Given the description of an element on the screen output the (x, y) to click on. 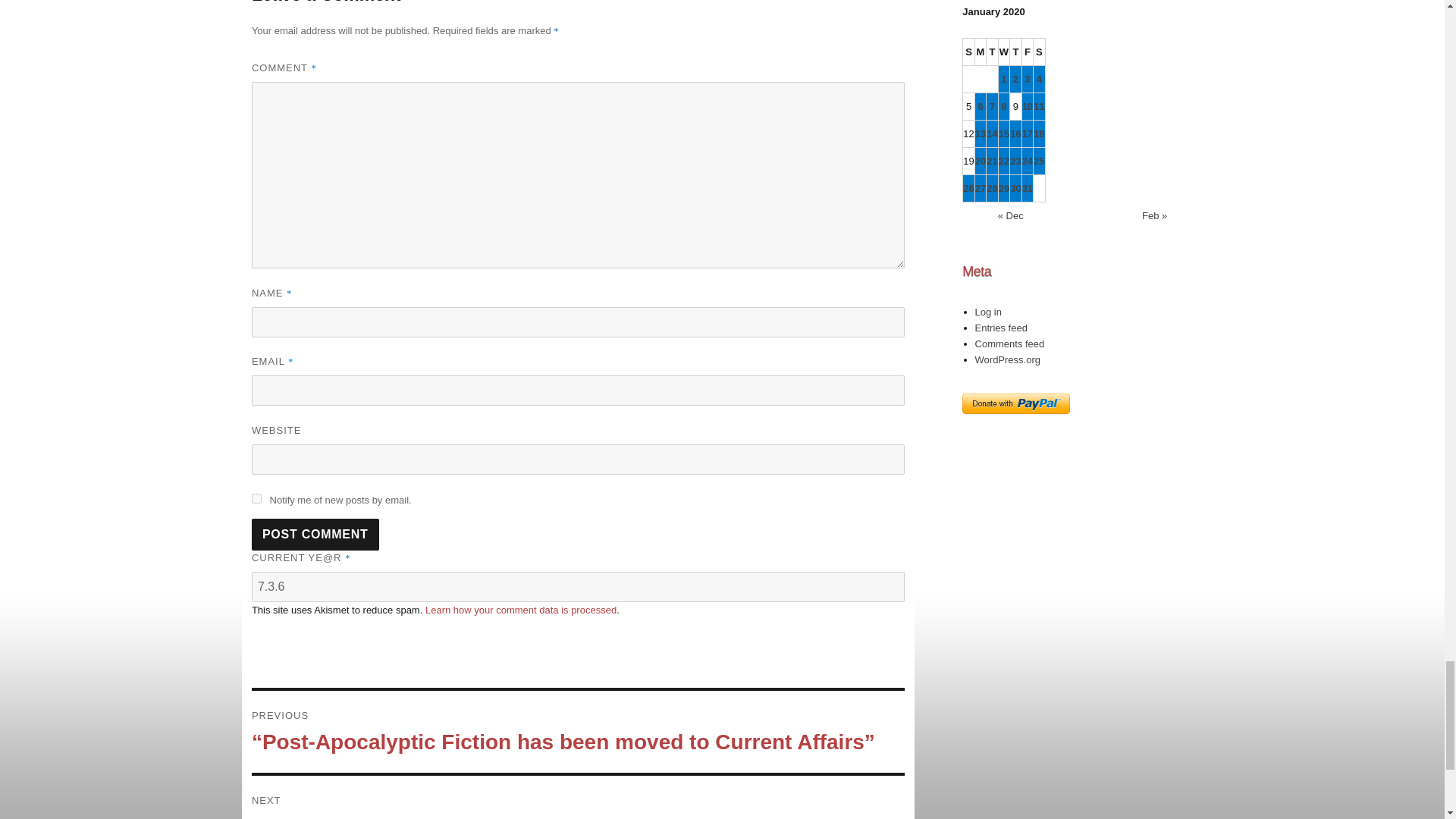
Post Comment (314, 534)
7.3.6 (577, 586)
subscribe (256, 498)
